Given the description of an element on the screen output the (x, y) to click on. 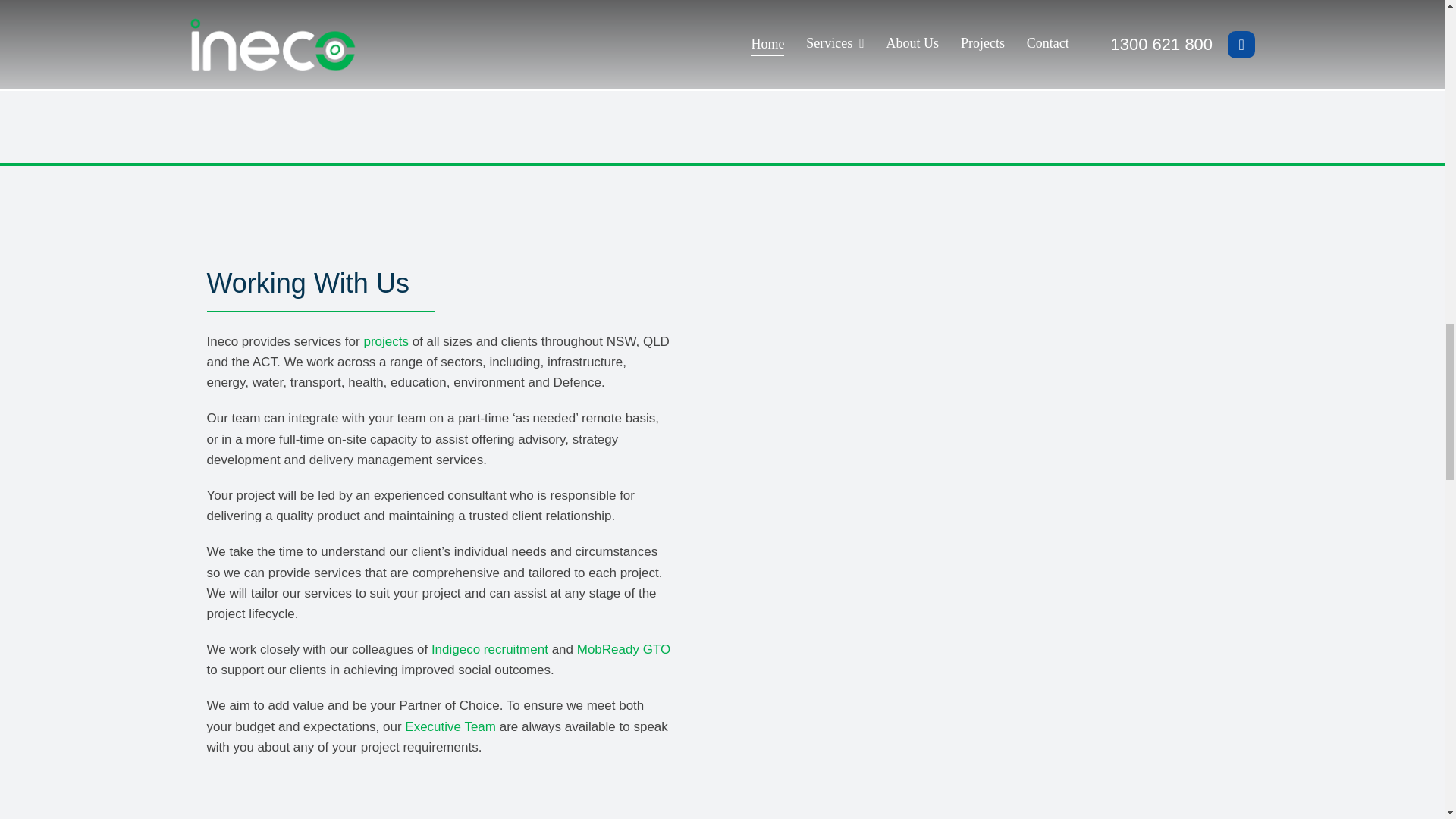
Warwick-Farm-Car-Park (1108, 703)
cox-river-road-upgrade-1 (865, 703)
